Given the description of an element on the screen output the (x, y) to click on. 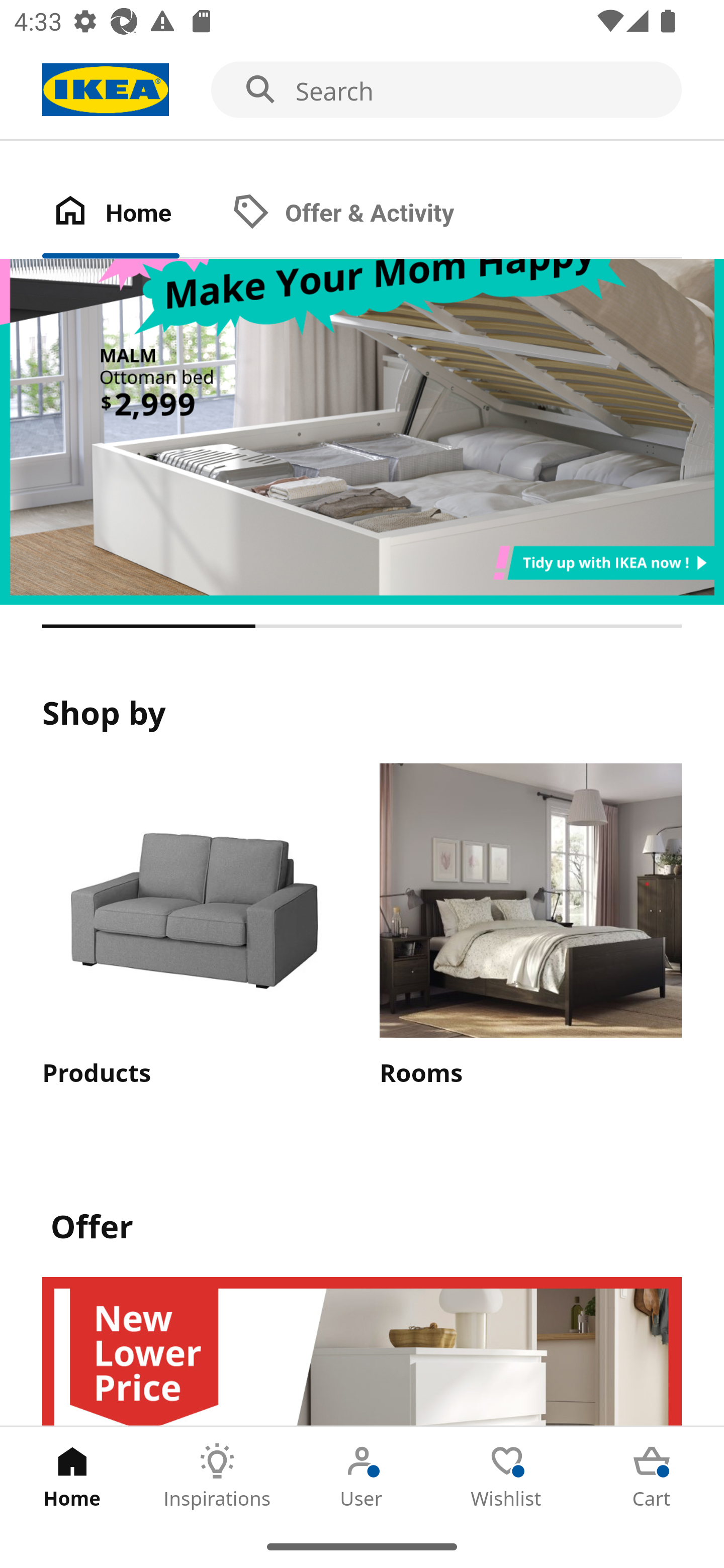
Search (361, 90)
Home
Tab 1 of 2 (131, 213)
Offer & Activity
Tab 2 of 2 (363, 213)
Products (192, 927)
Rooms (530, 927)
Home
Tab 1 of 5 (72, 1476)
Inspirations
Tab 2 of 5 (216, 1476)
User
Tab 3 of 5 (361, 1476)
Wishlist
Tab 4 of 5 (506, 1476)
Cart
Tab 5 of 5 (651, 1476)
